Given the description of an element on the screen output the (x, y) to click on. 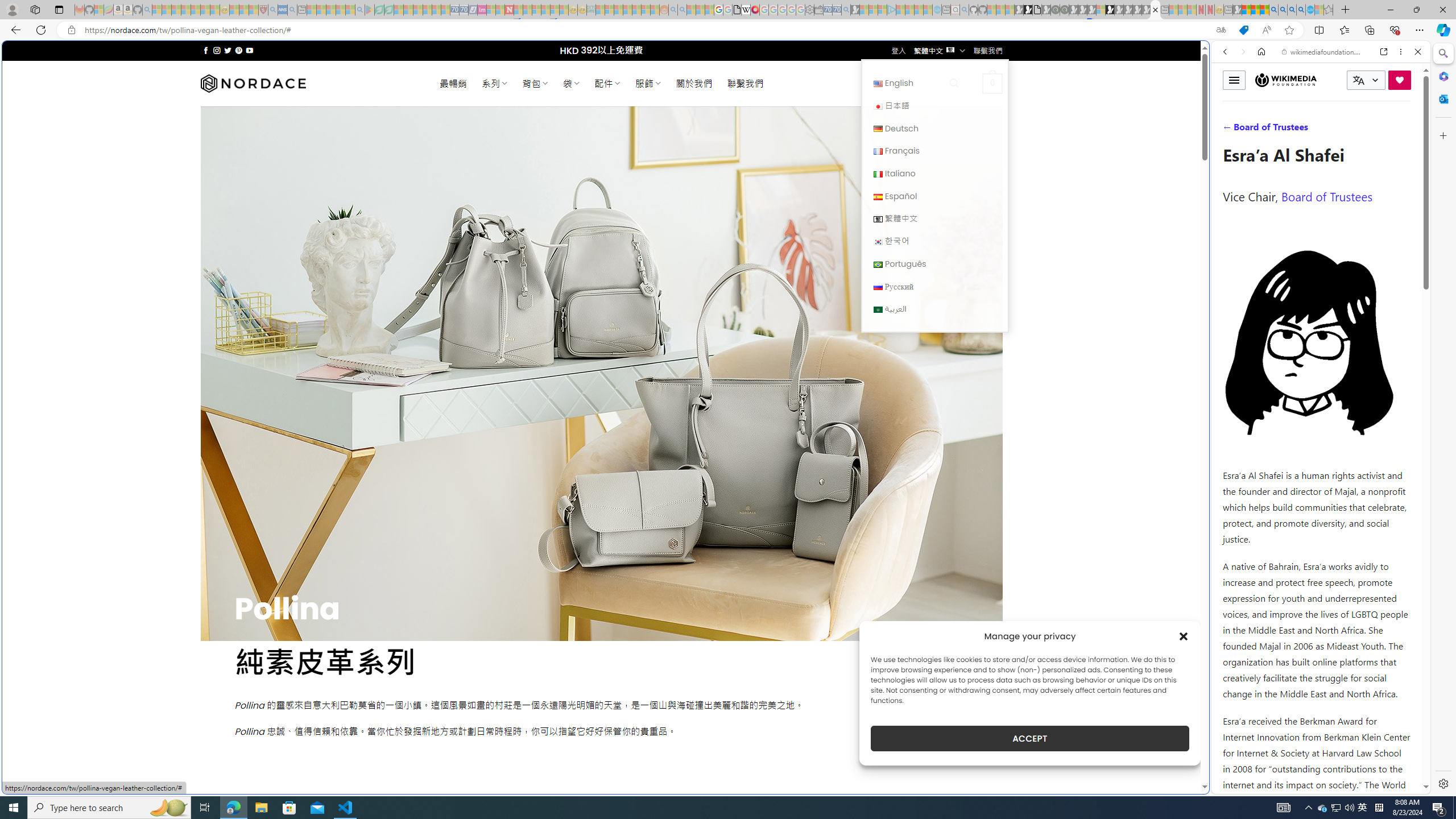
Services - Maintenance | Sky Blue Bikes - Sky Blue Bikes (1309, 9)
  0   (992, 83)
Expert Portfolios - Sleeping (627, 9)
MediaWiki (754, 9)
